Given the description of an element on the screen output the (x, y) to click on. 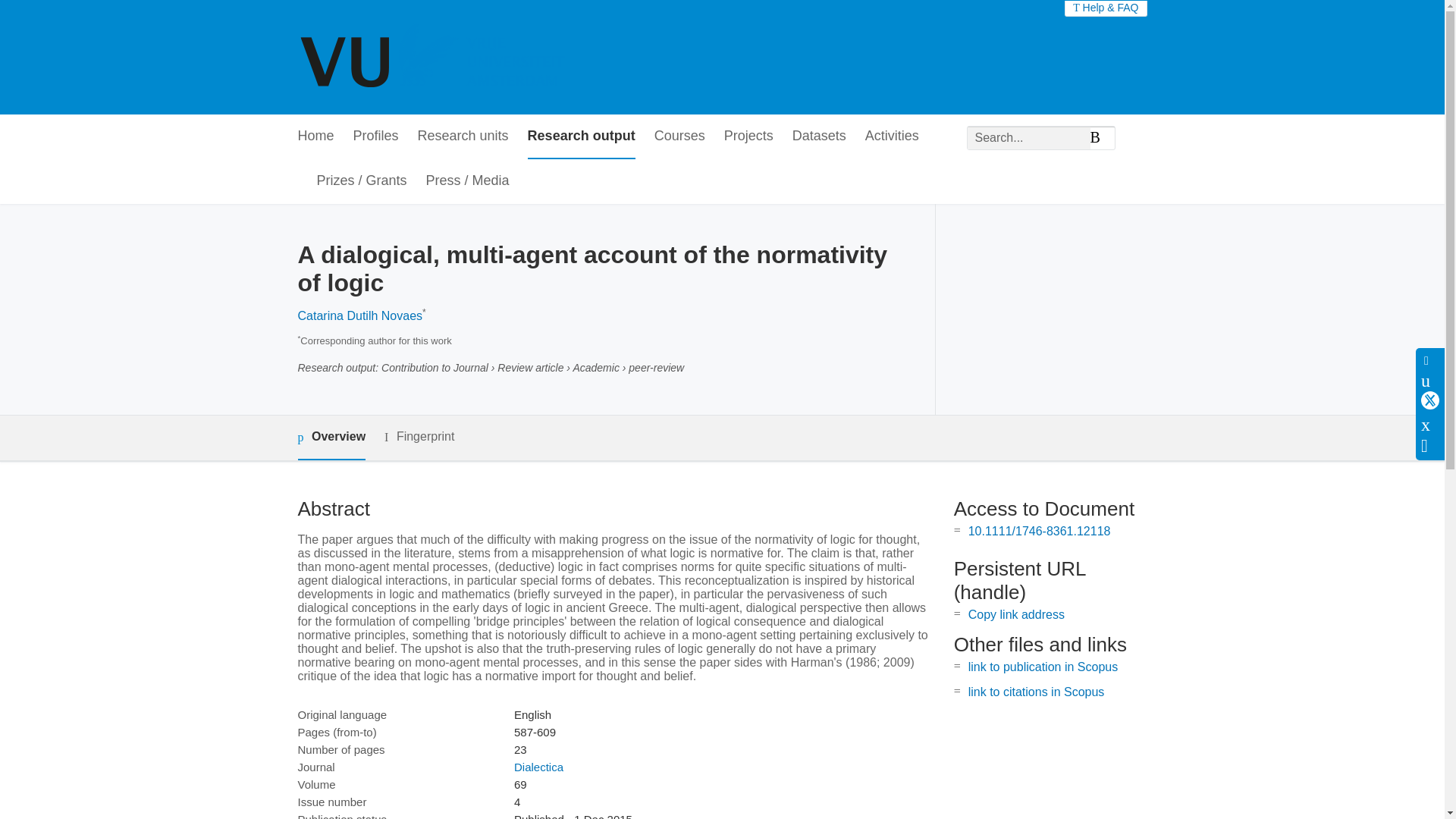
Research output (580, 136)
link to publication in Scopus (1043, 666)
Research units (462, 136)
Datasets (818, 136)
Copy link address (1016, 614)
Catarina Dutilh Novaes (359, 315)
link to citations in Scopus (1036, 691)
Dialectica (538, 766)
Vrije Universiteit Amsterdam Home (433, 57)
